Given the description of an element on the screen output the (x, y) to click on. 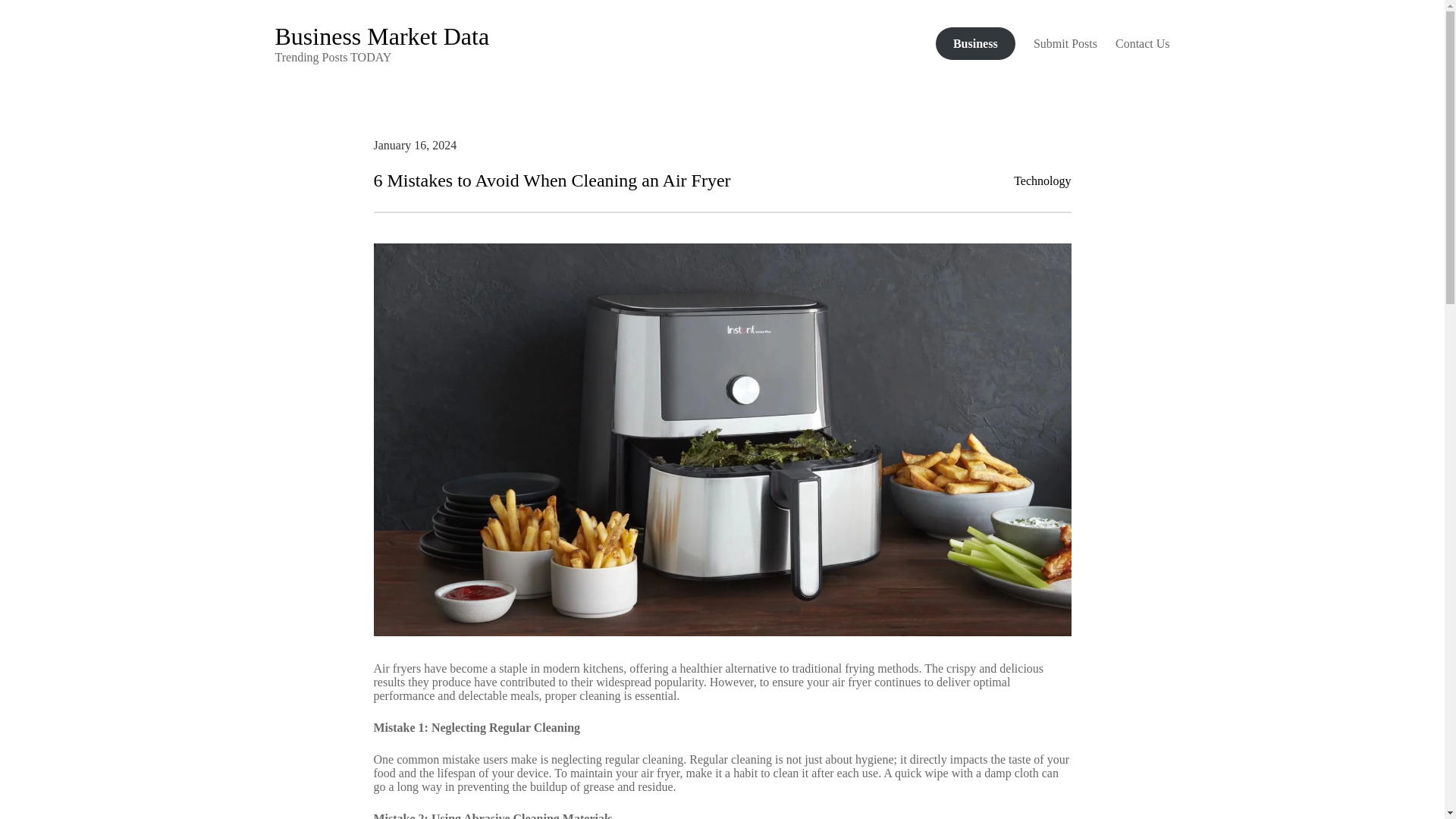
Technology (1041, 180)
Contact Us (1142, 42)
Submit Posts (1065, 42)
Business Market Data (382, 35)
Business (975, 43)
